Given the description of an element on the screen output the (x, y) to click on. 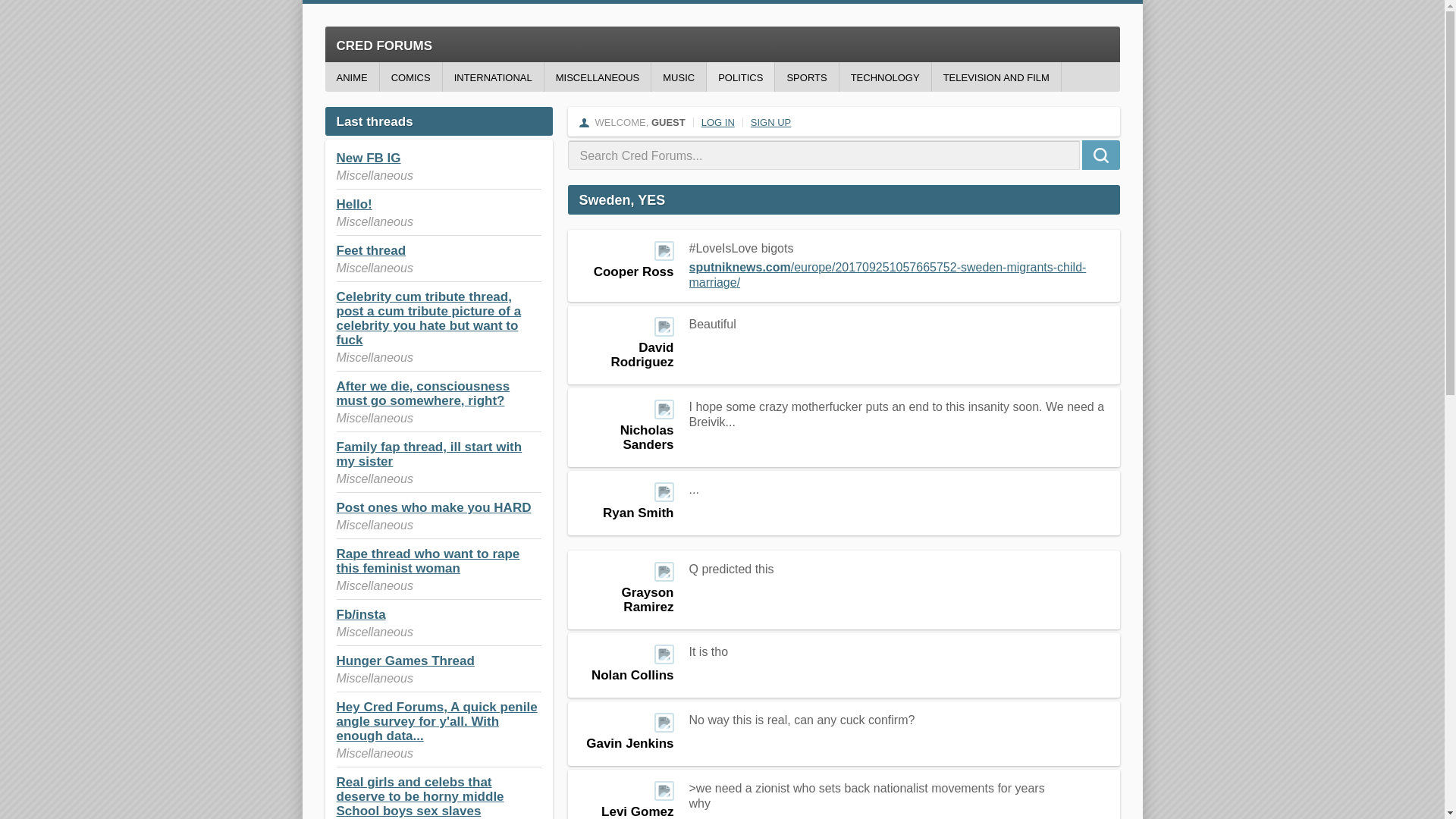
After we die, consciousness must go somewhere, right? (423, 393)
Rape thread who want to rape this feminist woman (427, 561)
After we die, consciousness must go somewhere, right? (423, 393)
Feet thread (371, 250)
Hunger Games Thread (405, 660)
New FB IG (368, 157)
SPORTS (806, 76)
Post ones who make you HARD (433, 507)
LOG IN (718, 122)
Family fap thread, ill start with my sister (429, 453)
TECHNOLOGY (885, 76)
New FB IG (368, 157)
Feet thread (371, 250)
Hello! (354, 204)
